Given the description of an element on the screen output the (x, y) to click on. 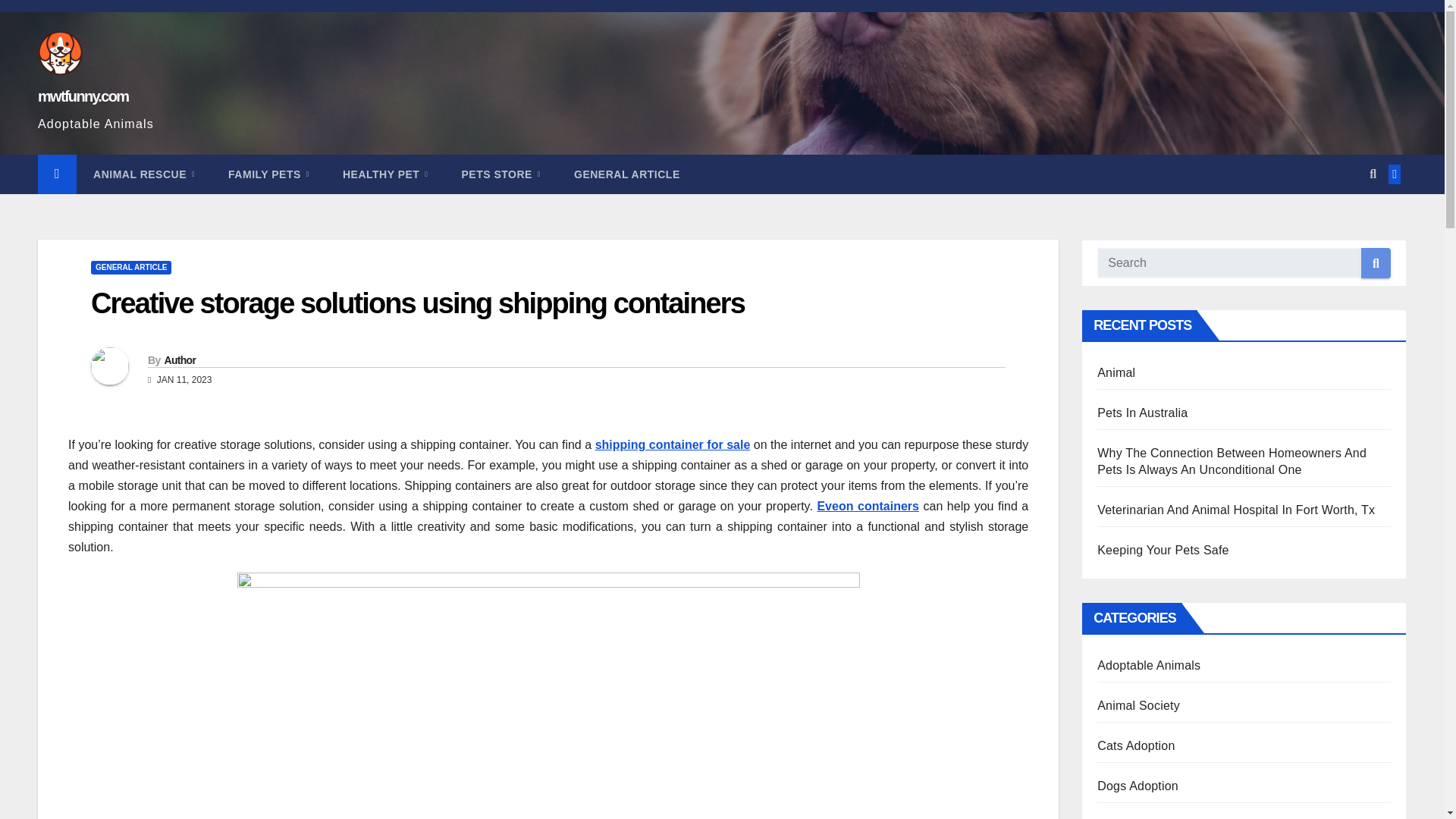
mwtfunny.com (82, 95)
Creative storage solutions using shipping containers (417, 303)
GENERAL ARTICLE (627, 174)
Healthy Pet (385, 174)
Animal Rescue (144, 174)
GENERAL ARTICLE (130, 267)
ANIMAL RESCUE (144, 174)
HEALTHY PET (385, 174)
FAMILY PETS (268, 174)
Family Pets (268, 174)
PETS STORE (500, 174)
